Given the description of an element on the screen output the (x, y) to click on. 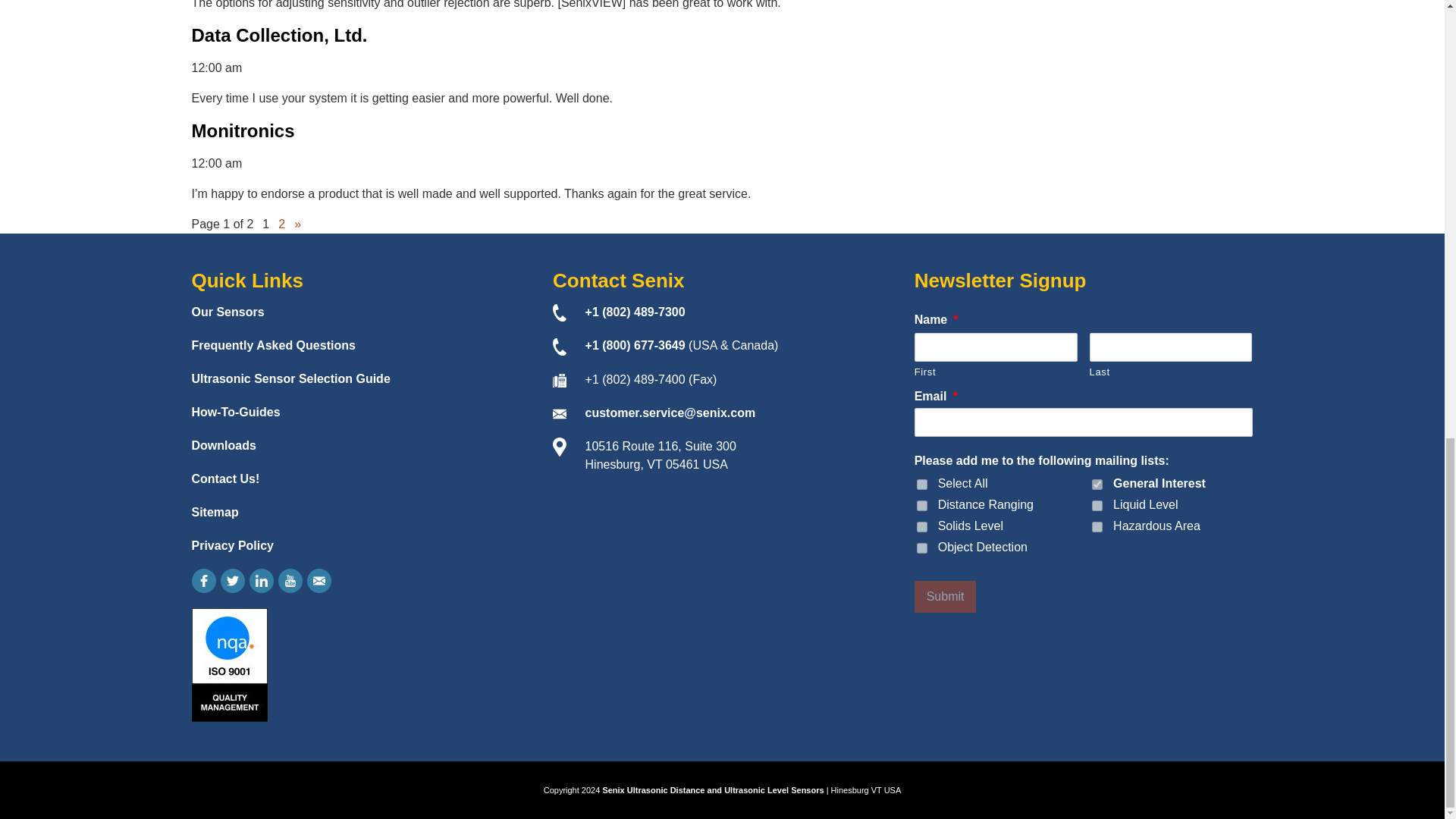
Y (922, 526)
Permalink to Monitronics (242, 130)
Permalink to Data Collection, Ltd. (278, 35)
Submit (945, 596)
Y (1097, 505)
Y (922, 547)
18024897300 (635, 311)
on (922, 484)
Y (1097, 484)
Y (922, 505)
Y (1097, 526)
